Given the description of an element on the screen output the (x, y) to click on. 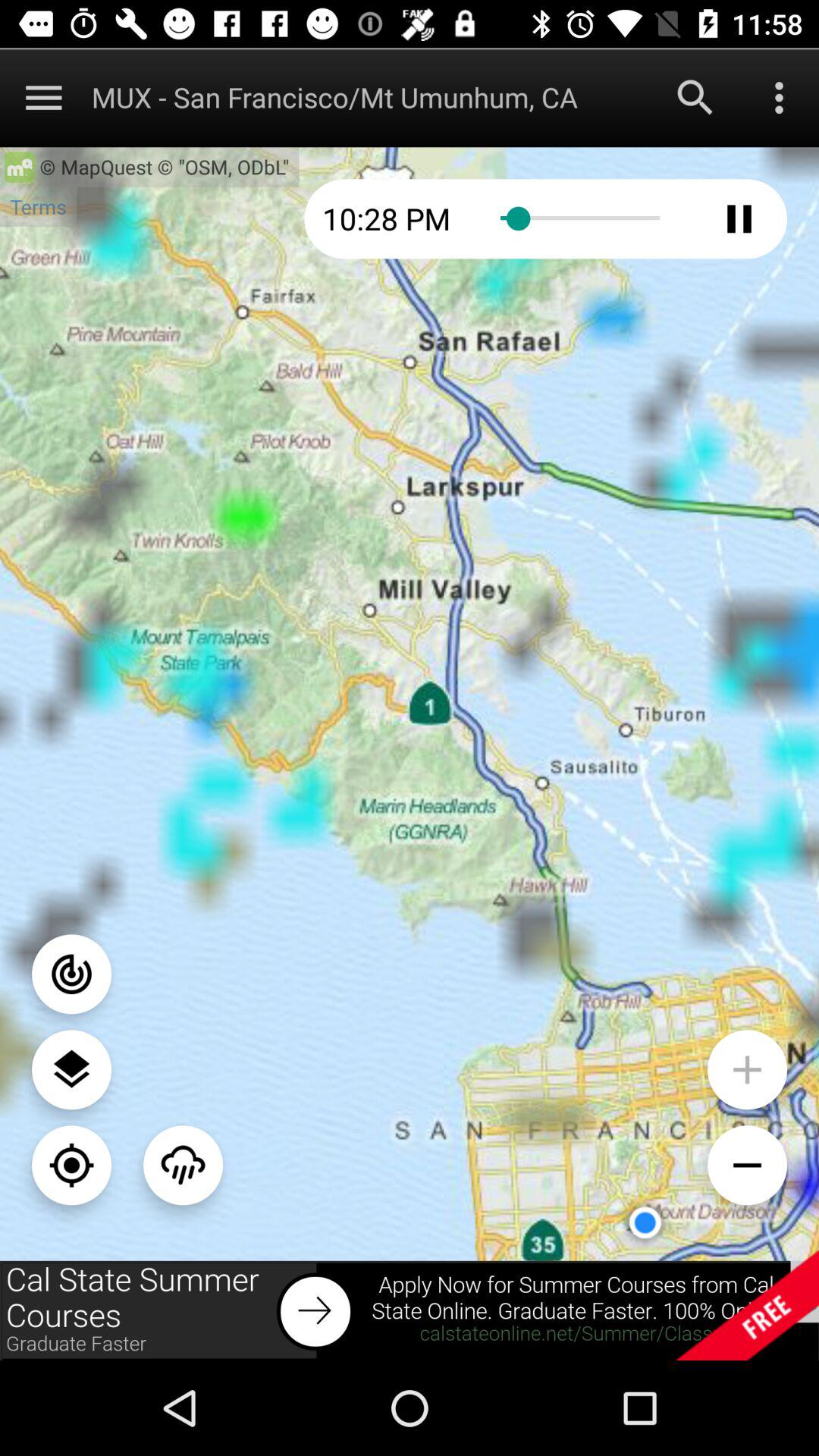
menu (43, 97)
